Given the description of an element on the screen output the (x, y) to click on. 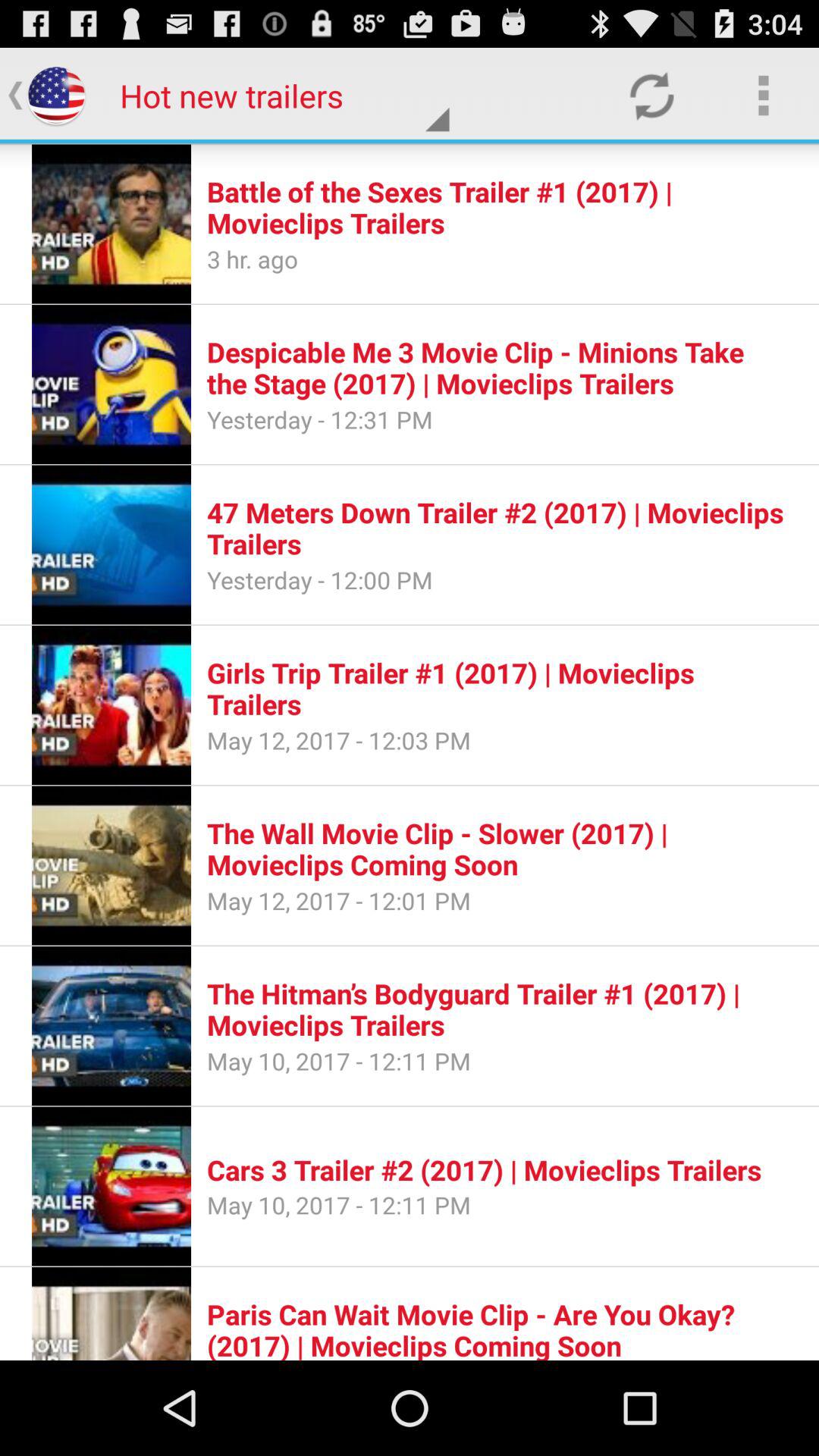
turn off the item to the right of hot new trailers icon (651, 95)
